Given the description of an element on the screen output the (x, y) to click on. 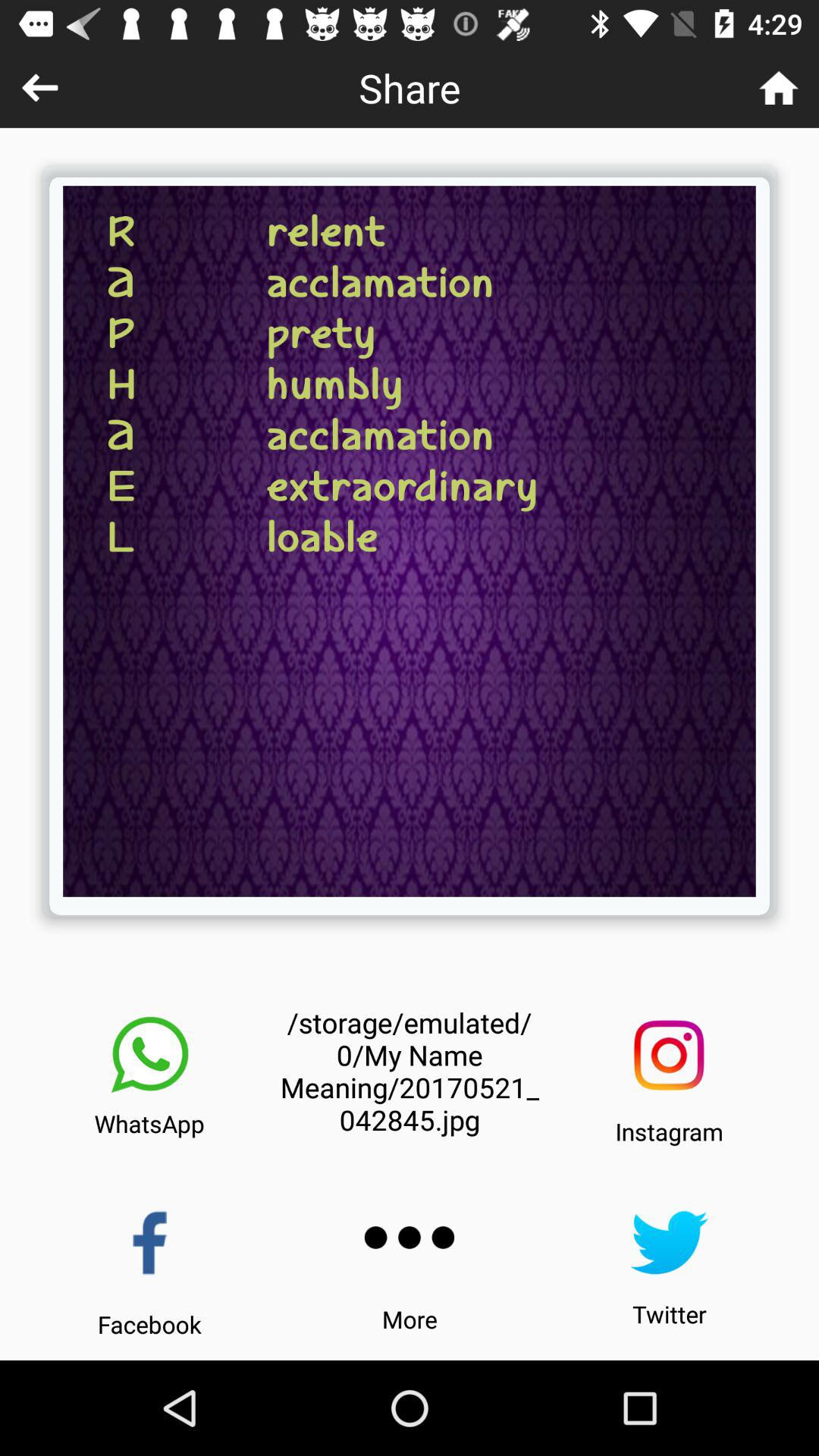
turn off the item above the instagram icon (668, 1055)
